Given the description of an element on the screen output the (x, y) to click on. 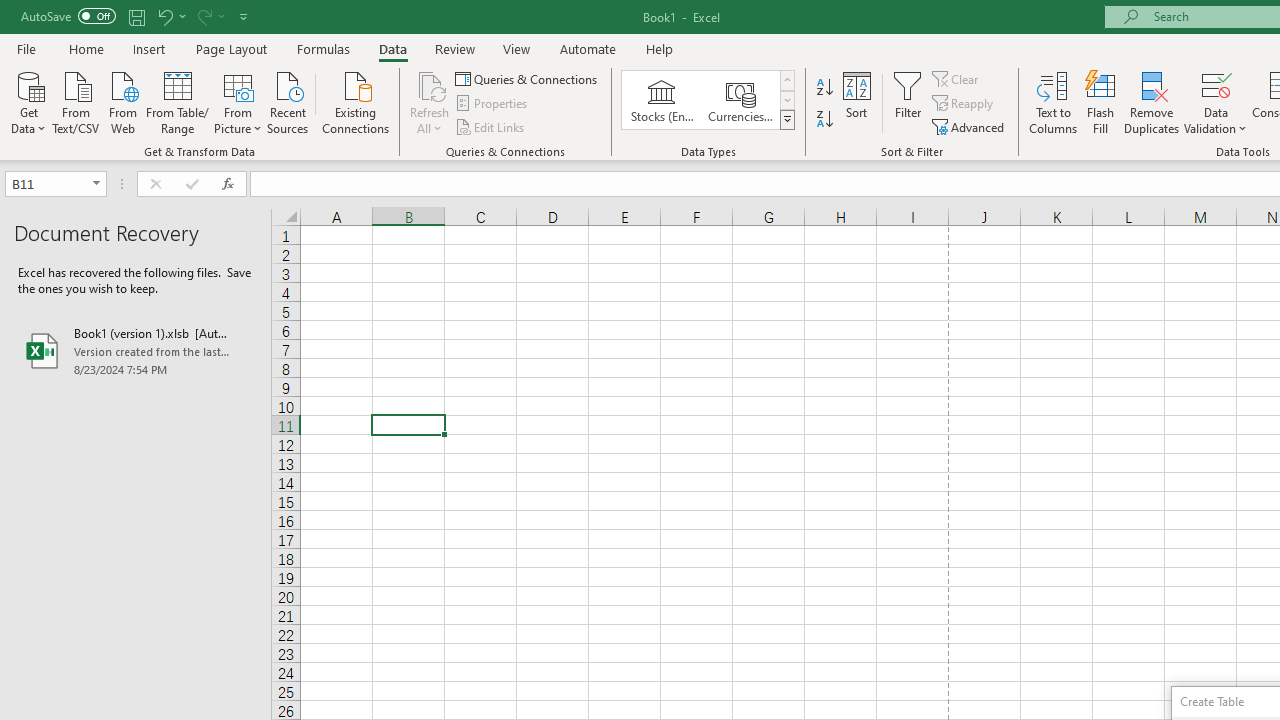
Properties (492, 103)
Clear (957, 78)
More Options (1215, 121)
From Picture (238, 101)
Refresh All (429, 84)
Review (454, 48)
From Web (122, 101)
AutomationID: ConvertToLinkedEntity (708, 99)
Sort A to Z (824, 87)
Quick Access Toolbar (136, 16)
Automate (588, 48)
Home (86, 48)
Sort... (856, 102)
Class: NetUIImage (787, 119)
Redo (209, 15)
